Given the description of an element on the screen output the (x, y) to click on. 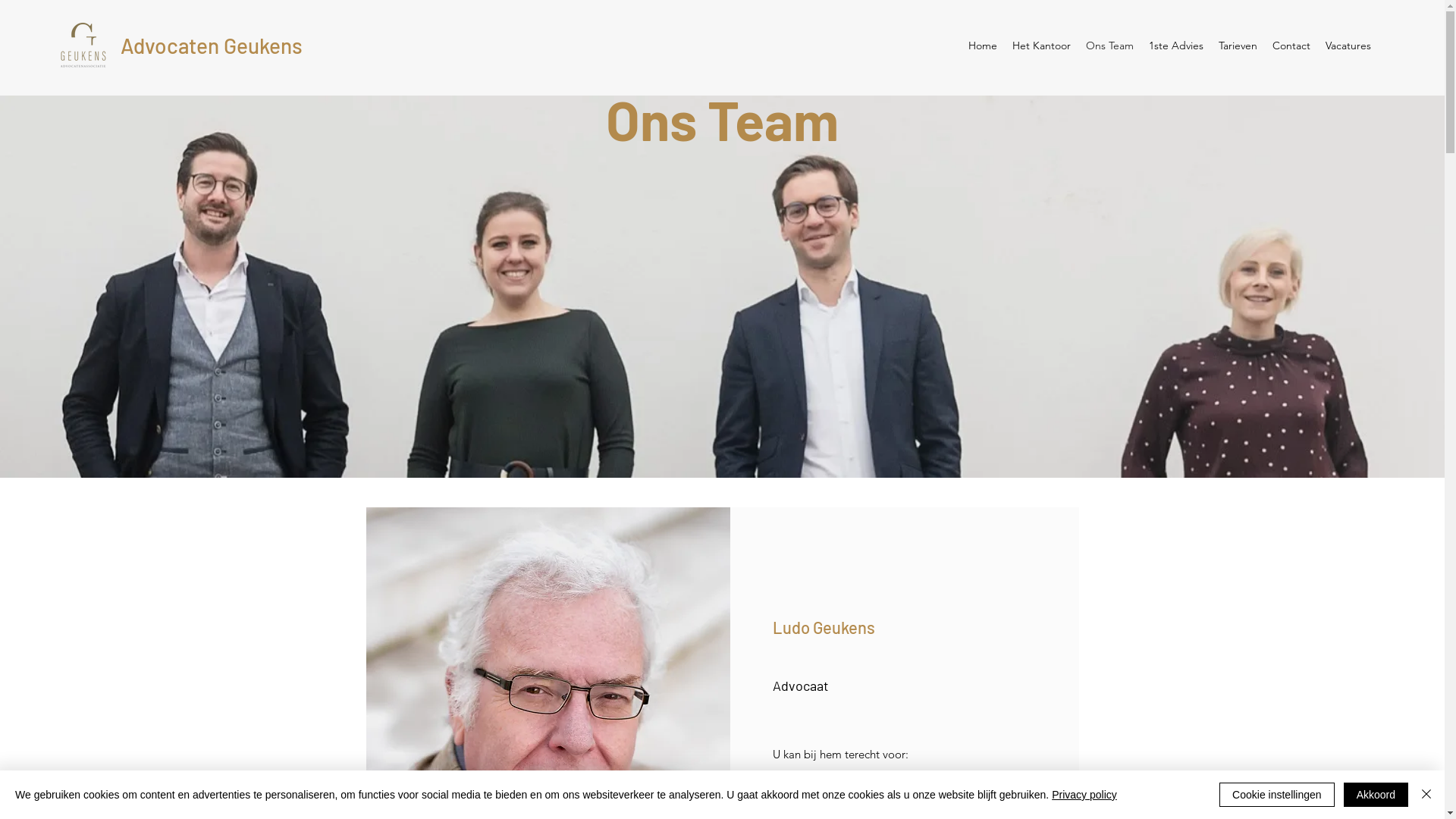
Akkoord Element type: text (1375, 794)
Vacatures Element type: text (1347, 45)
Tarieven Element type: text (1237, 45)
Privacy policy Element type: text (1084, 794)
Home Element type: text (982, 45)
Cookie instellingen Element type: text (1276, 794)
Advocaten Geukens Element type: text (211, 45)
Contact Element type: text (1290, 45)
Ons Team Element type: text (1109, 45)
Het Kantoor Element type: text (1041, 45)
1ste Advies Element type: text (1176, 45)
